Given the description of an element on the screen output the (x, y) to click on. 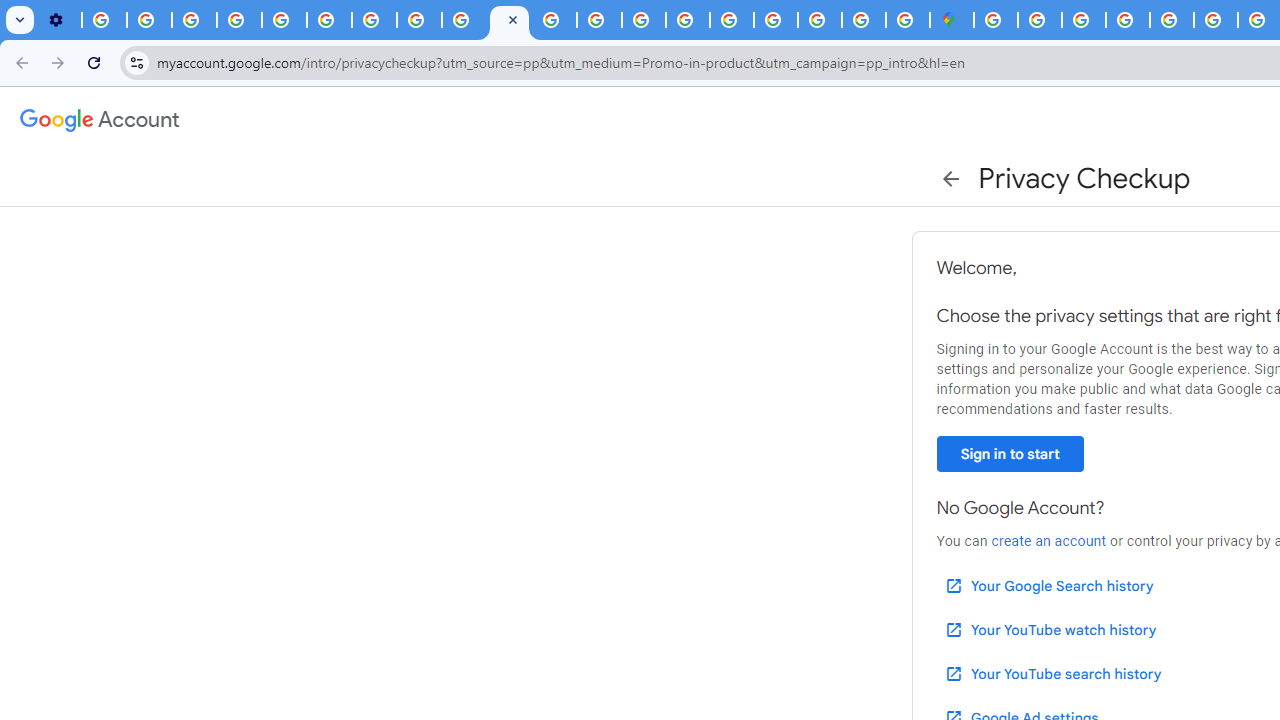
YouTube (329, 20)
Google Maps (952, 20)
Learn how to find your photos - Google Photos Help (148, 20)
Privacy Checkup (509, 20)
Delete photos & videos - Computer - Google Photos Help (103, 20)
Sign in - Google Accounts (995, 20)
Terms and Conditions (1215, 20)
Privacy Checkup (464, 20)
create an account (1048, 541)
